Given the description of an element on the screen output the (x, y) to click on. 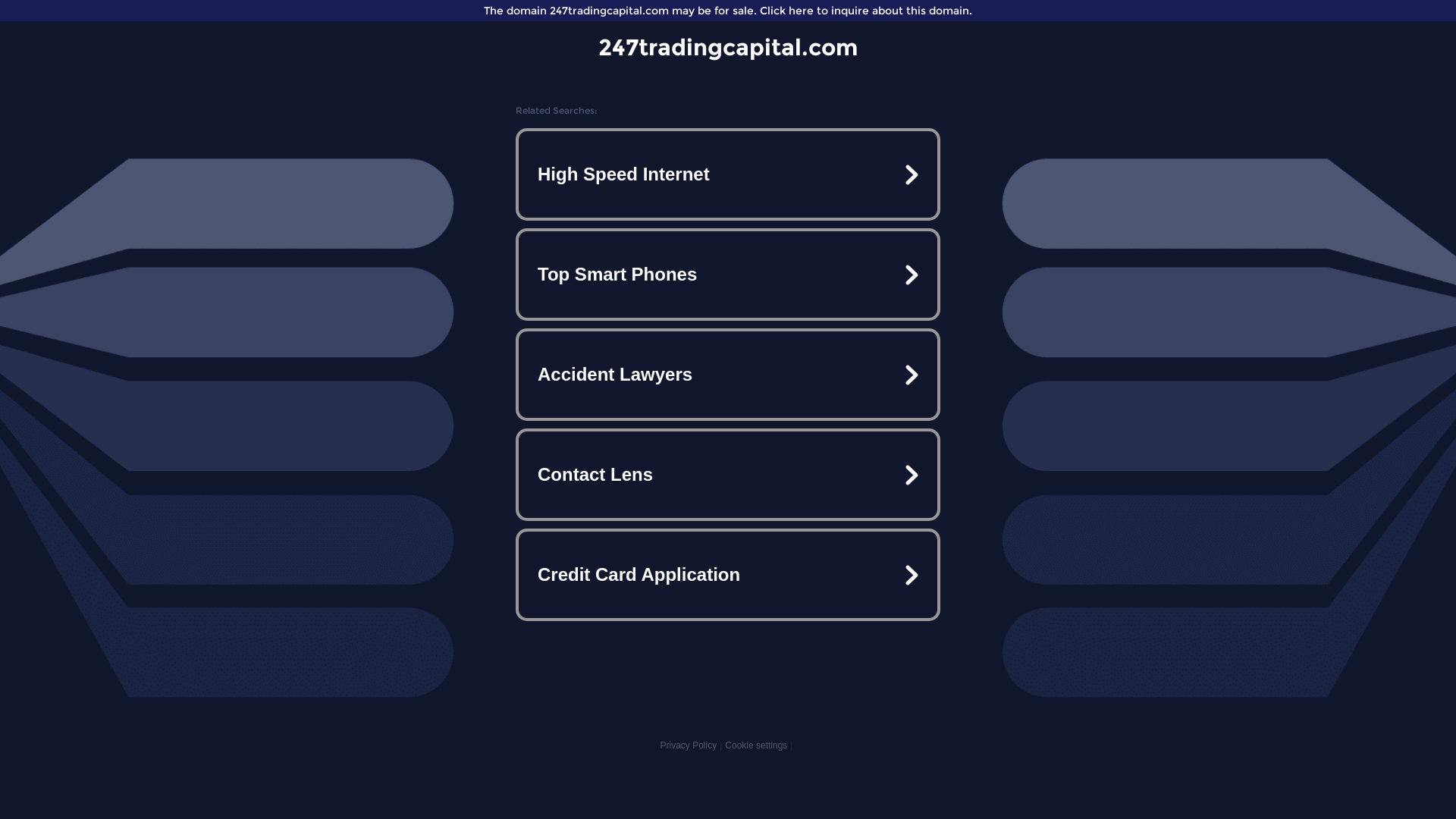
Top Smart Phones Element type: text (727, 274)
247tradingcapital.com Element type: text (727, 47)
Accident Lawyers Element type: text (727, 374)
High Speed Internet Element type: text (727, 174)
Cookie settings Element type: text (755, 745)
Contact Lens Element type: text (727, 474)
Privacy Policy Element type: text (687, 745)
Credit Card Application Element type: text (727, 574)
